Given the description of an element on the screen output the (x, y) to click on. 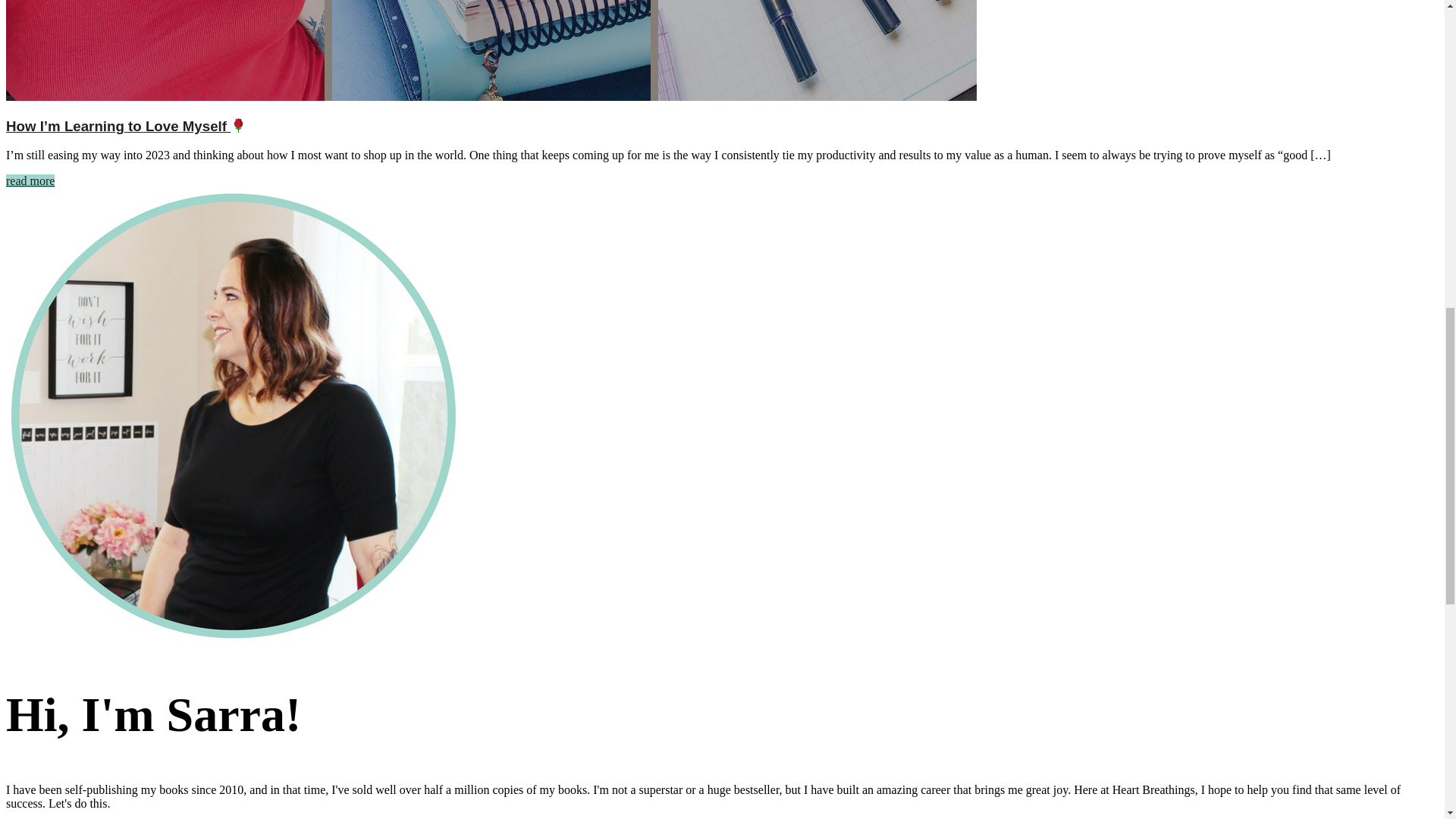
read more (30, 180)
